Given the description of an element on the screen output the (x, y) to click on. 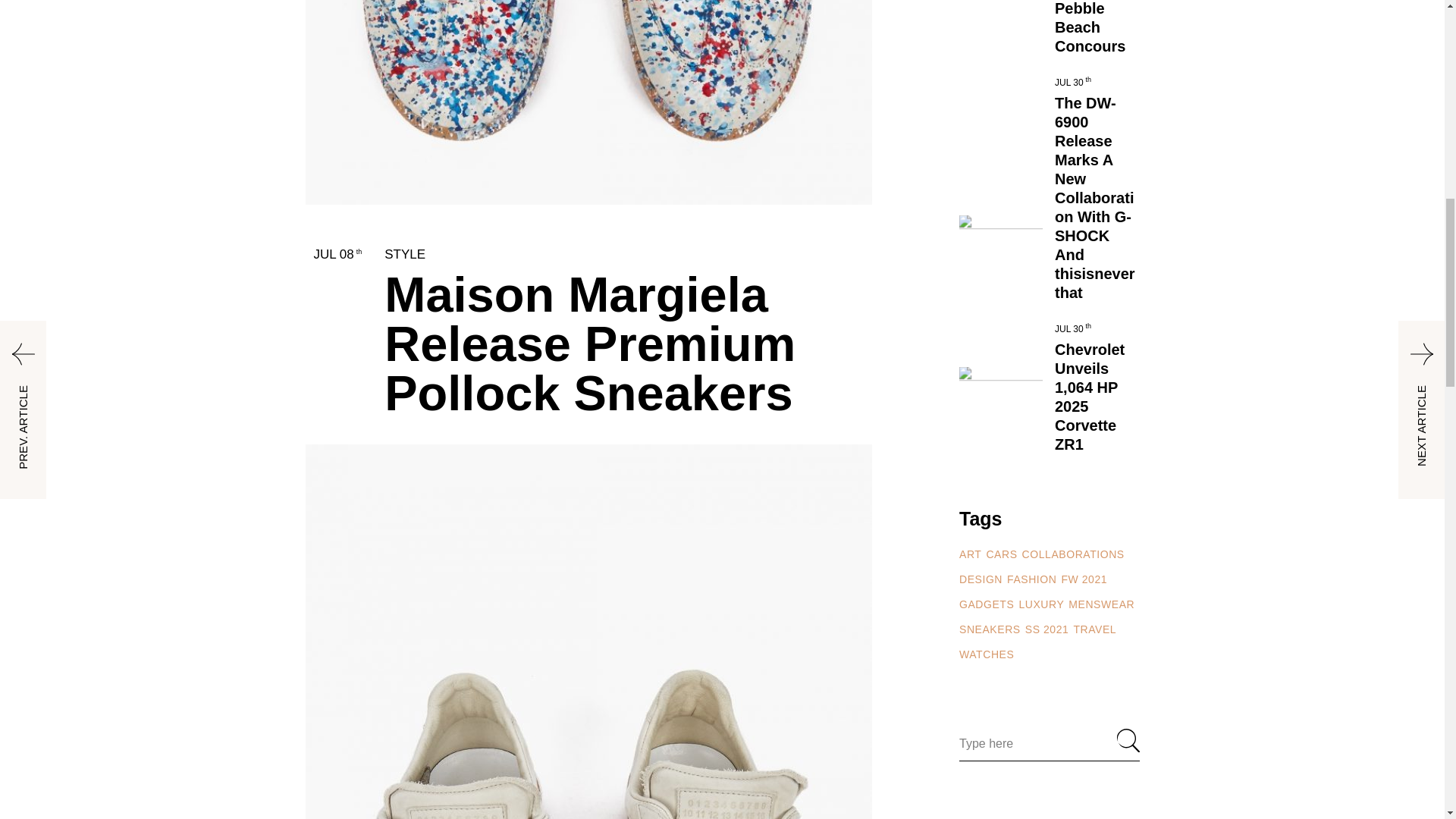
JUL 30th (1072, 81)
COLLABORATIONS (1073, 554)
ART (970, 554)
JUL 08th (338, 254)
CARS (1000, 554)
FASHION (1032, 579)
STYLE (404, 254)
DESIGN (981, 579)
JUL 30th (1072, 328)
